Given the description of an element on the screen output the (x, y) to click on. 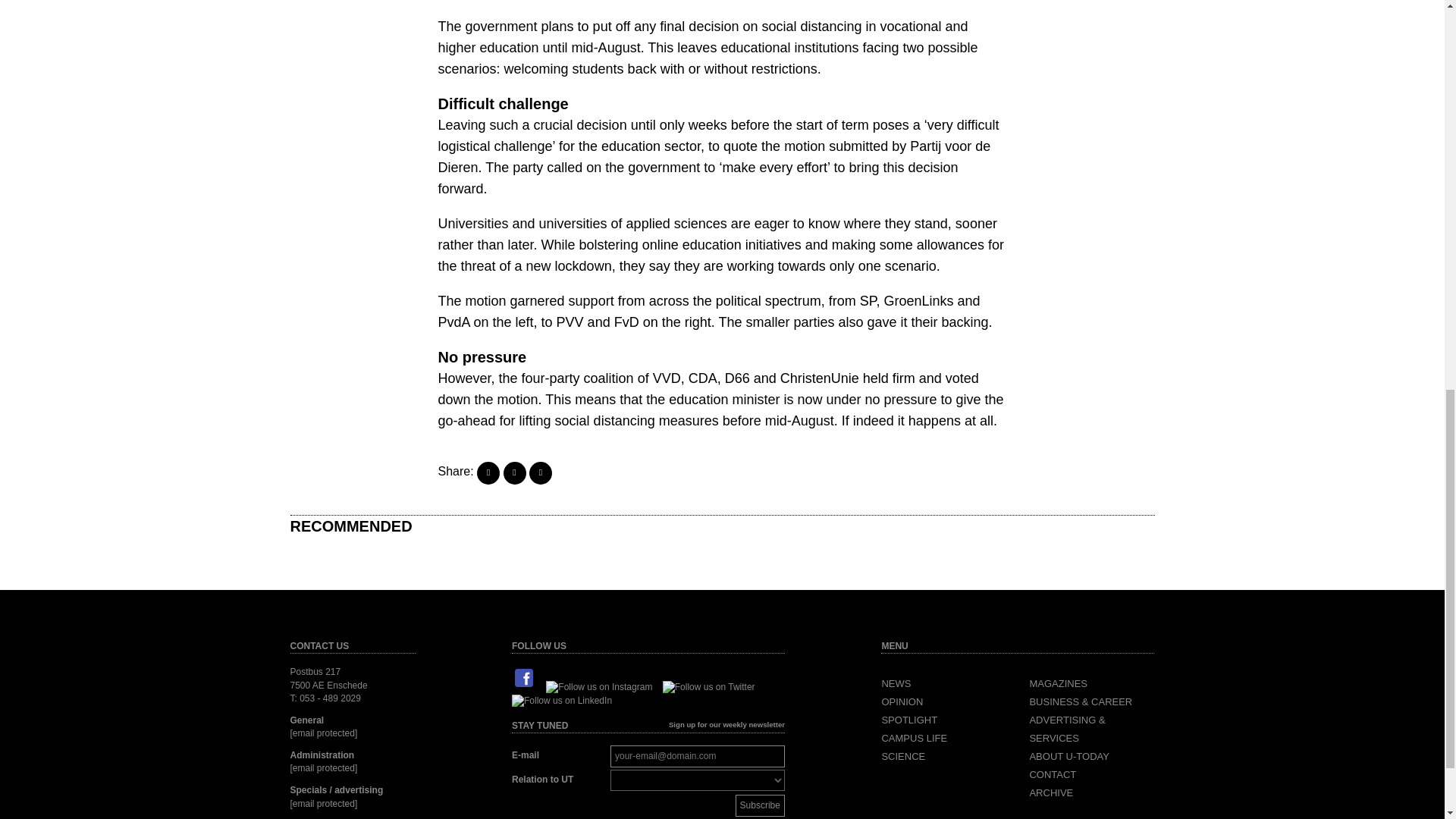
Share on LinkedIn (540, 472)
Share on Facebook (488, 472)
Subscribe (759, 805)
053 - 489 2029 (330, 697)
Share on Twitter (514, 472)
